Given the description of an element on the screen output the (x, y) to click on. 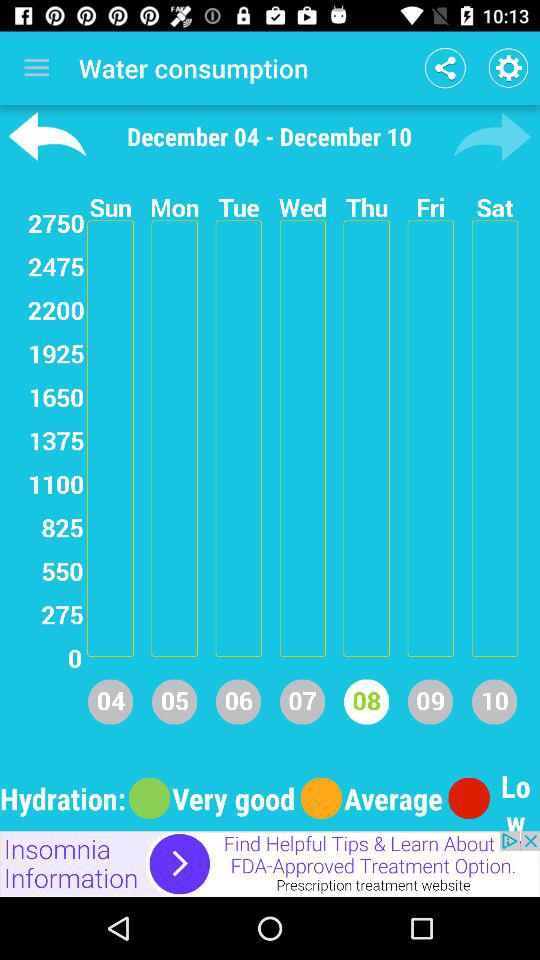
click advertisement (270, 864)
